Given the description of an element on the screen output the (x, y) to click on. 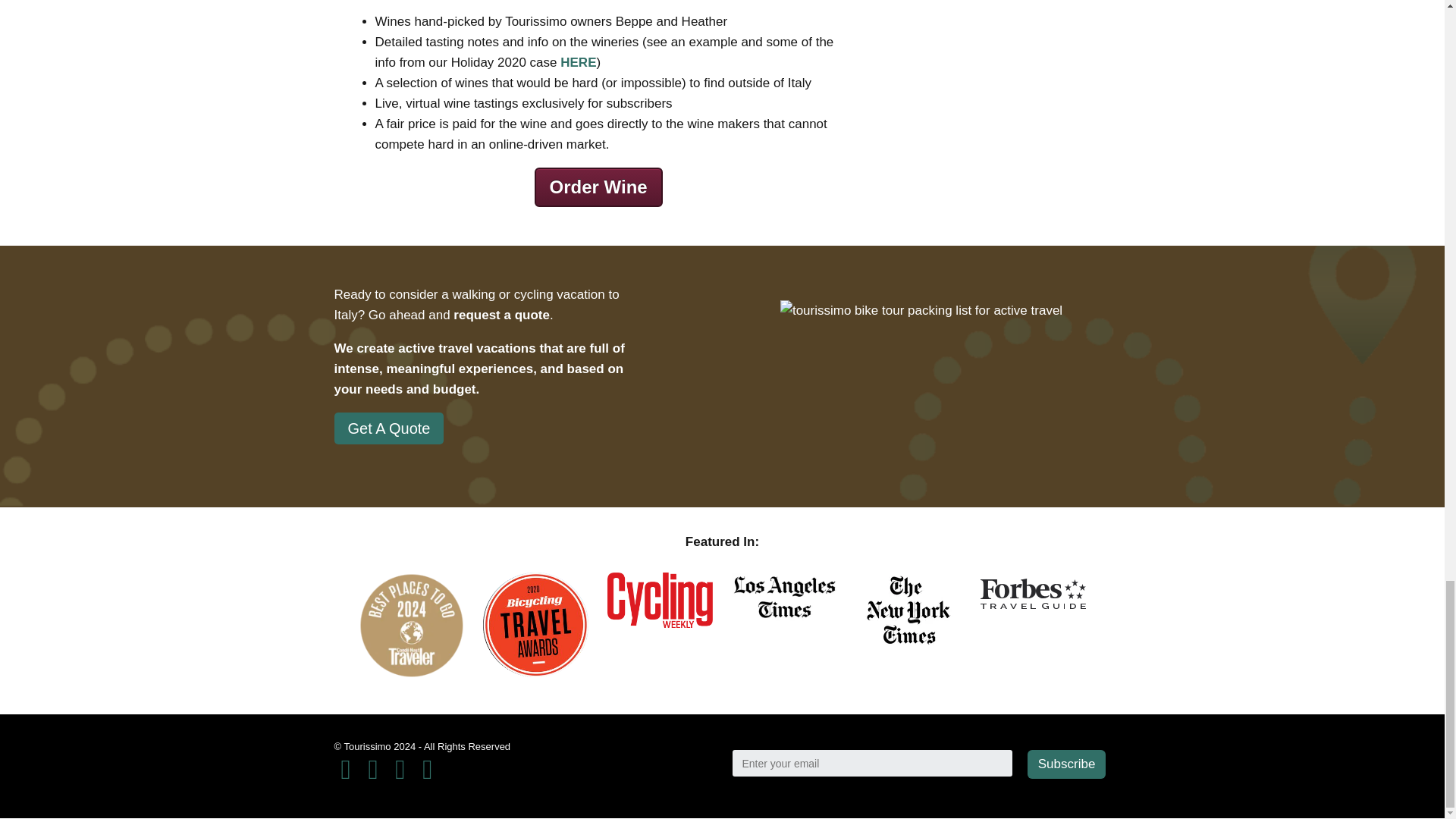
ftg-logo (1032, 593)
FI-LosAngelesTimes-LOGO (784, 597)
Get A Quote (388, 428)
Order Wine (598, 187)
Subscribe (1066, 764)
